Given the description of an element on the screen output the (x, y) to click on. 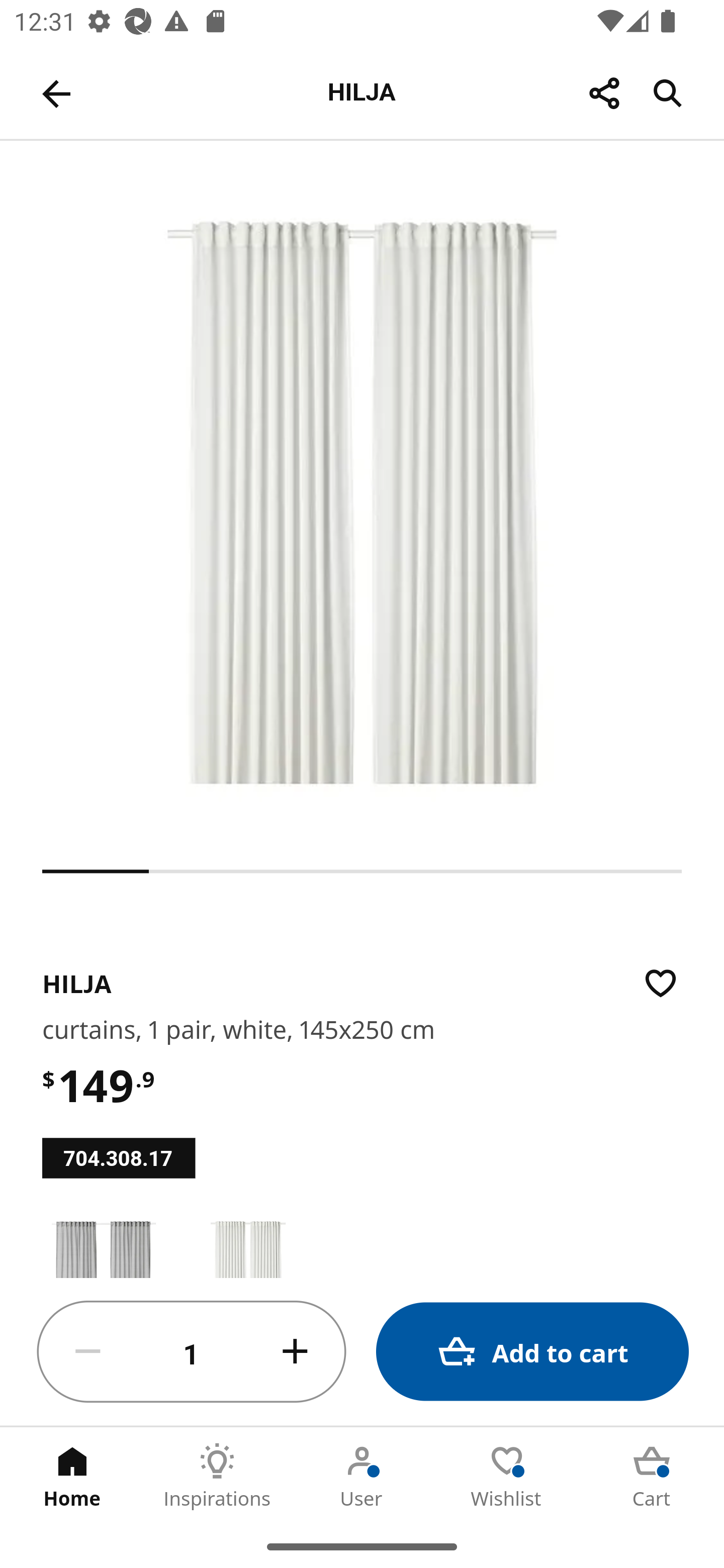
Add to cart (531, 1352)
1 (191, 1352)
Home
Tab 1 of 5 (72, 1476)
Inspirations
Tab 2 of 5 (216, 1476)
User
Tab 3 of 5 (361, 1476)
Wishlist
Tab 4 of 5 (506, 1476)
Cart
Tab 5 of 5 (651, 1476)
